Given the description of an element on the screen output the (x, y) to click on. 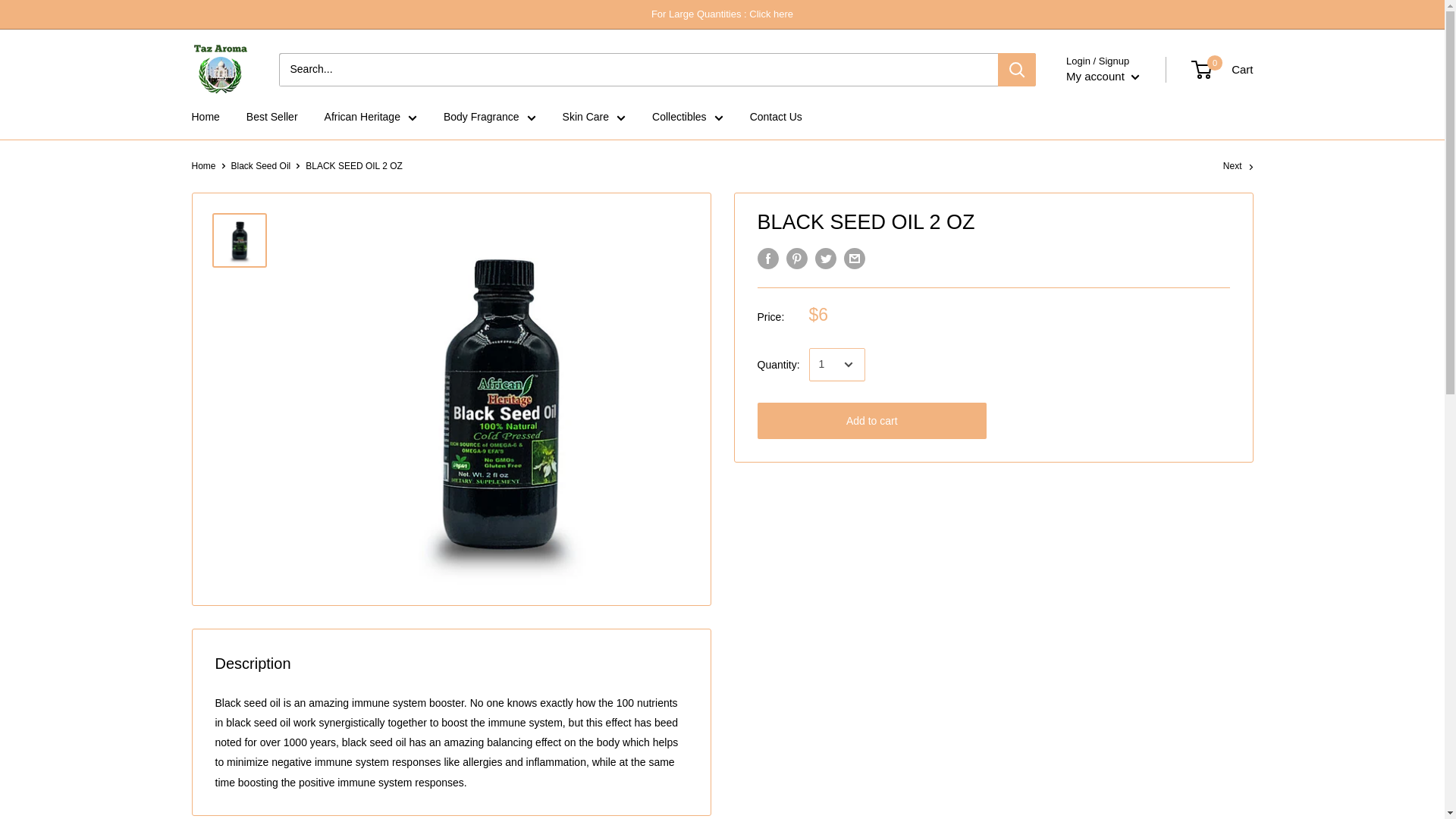
For Large Quantities : Click here (721, 14)
